Given the description of an element on the screen output the (x, y) to click on. 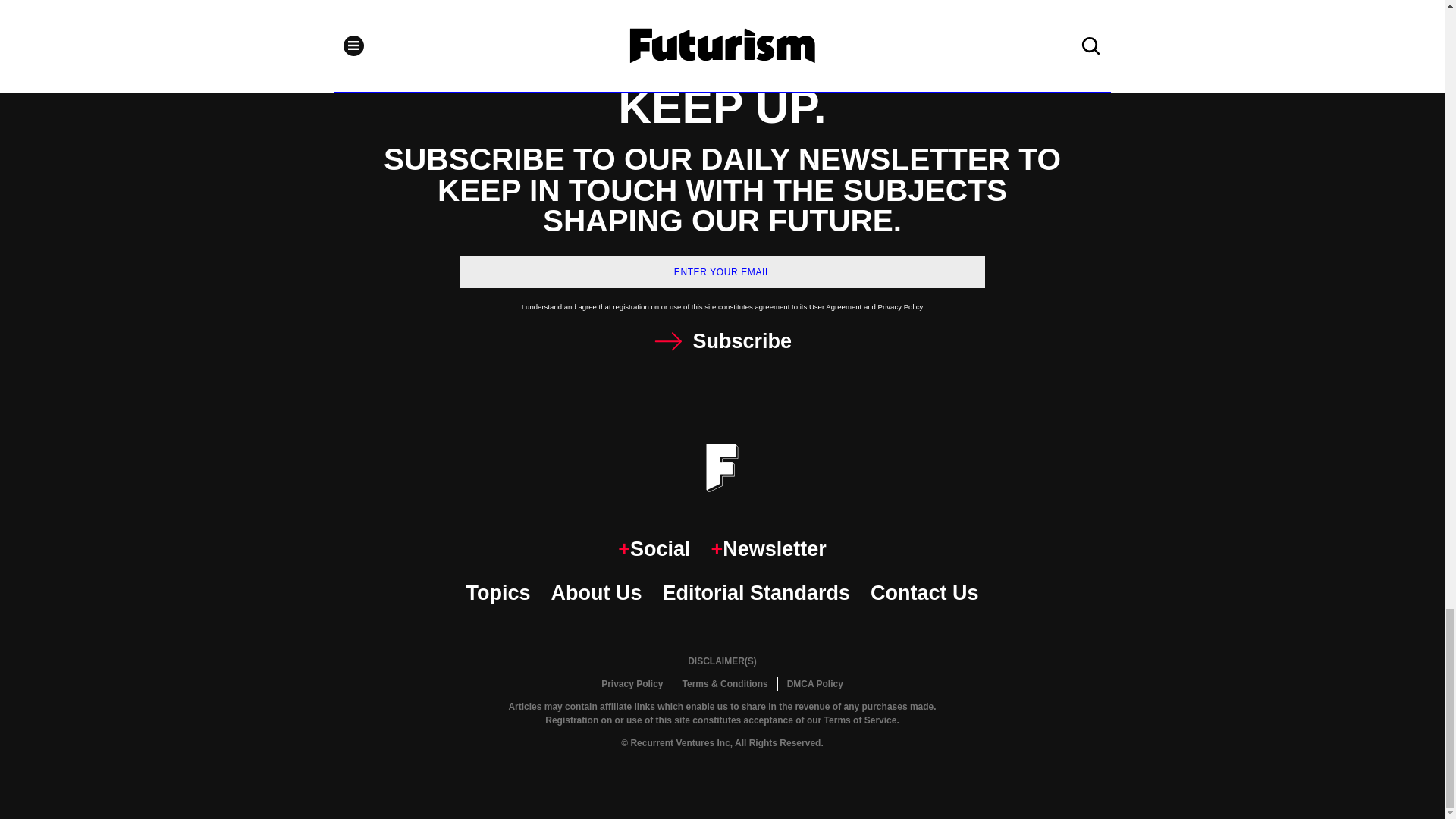
Privacy Policy (631, 684)
Topics (497, 593)
Editorial Standards (756, 593)
Contact Us (924, 593)
Subscribe (722, 341)
About Us (596, 593)
